Given the description of an element on the screen output the (x, y) to click on. 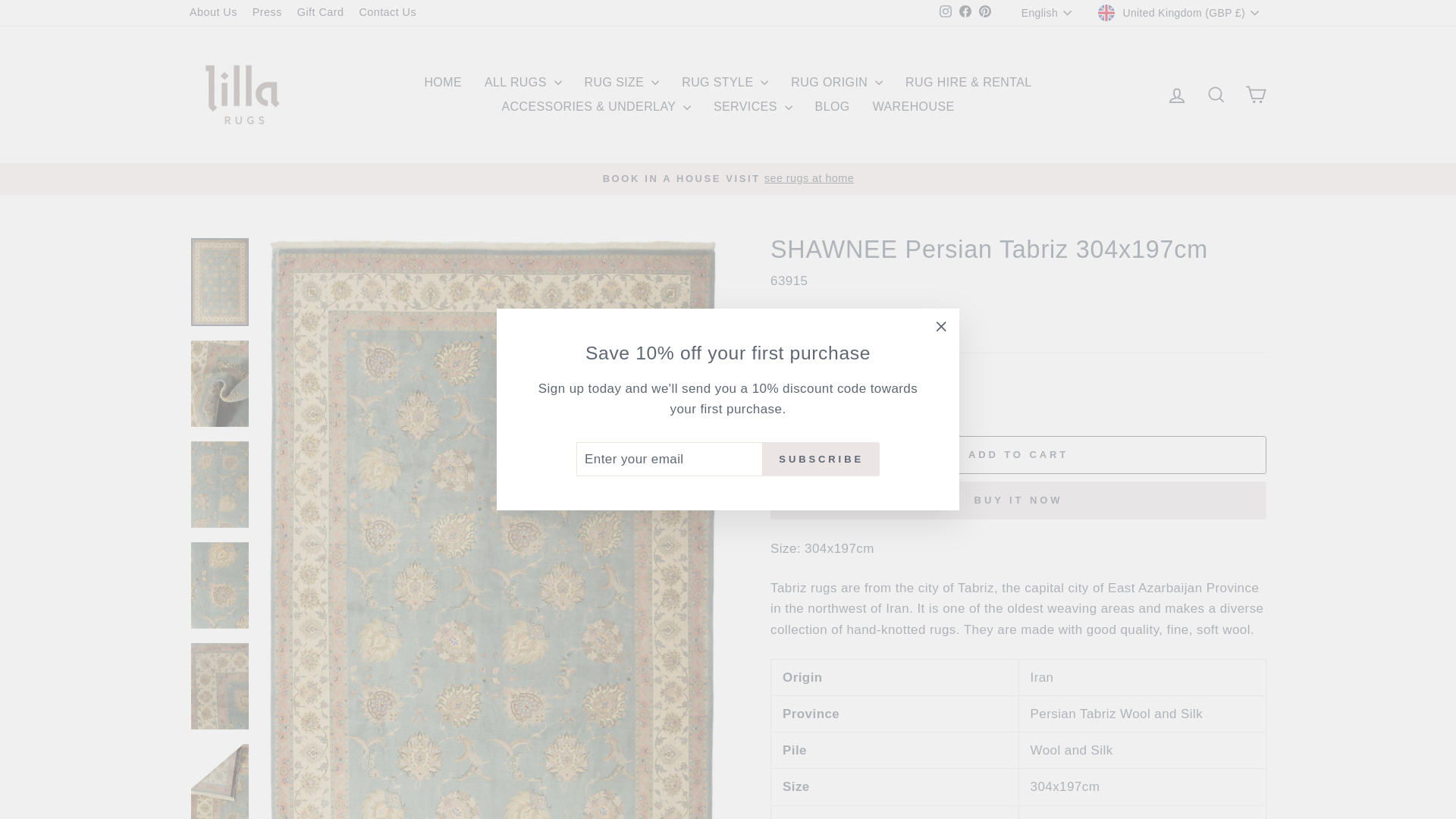
ICON-SEARCH (1216, 94)
icon-X (941, 326)
ACCOUNT (1177, 95)
instagram (945, 10)
